Given the description of an element on the screen output the (x, y) to click on. 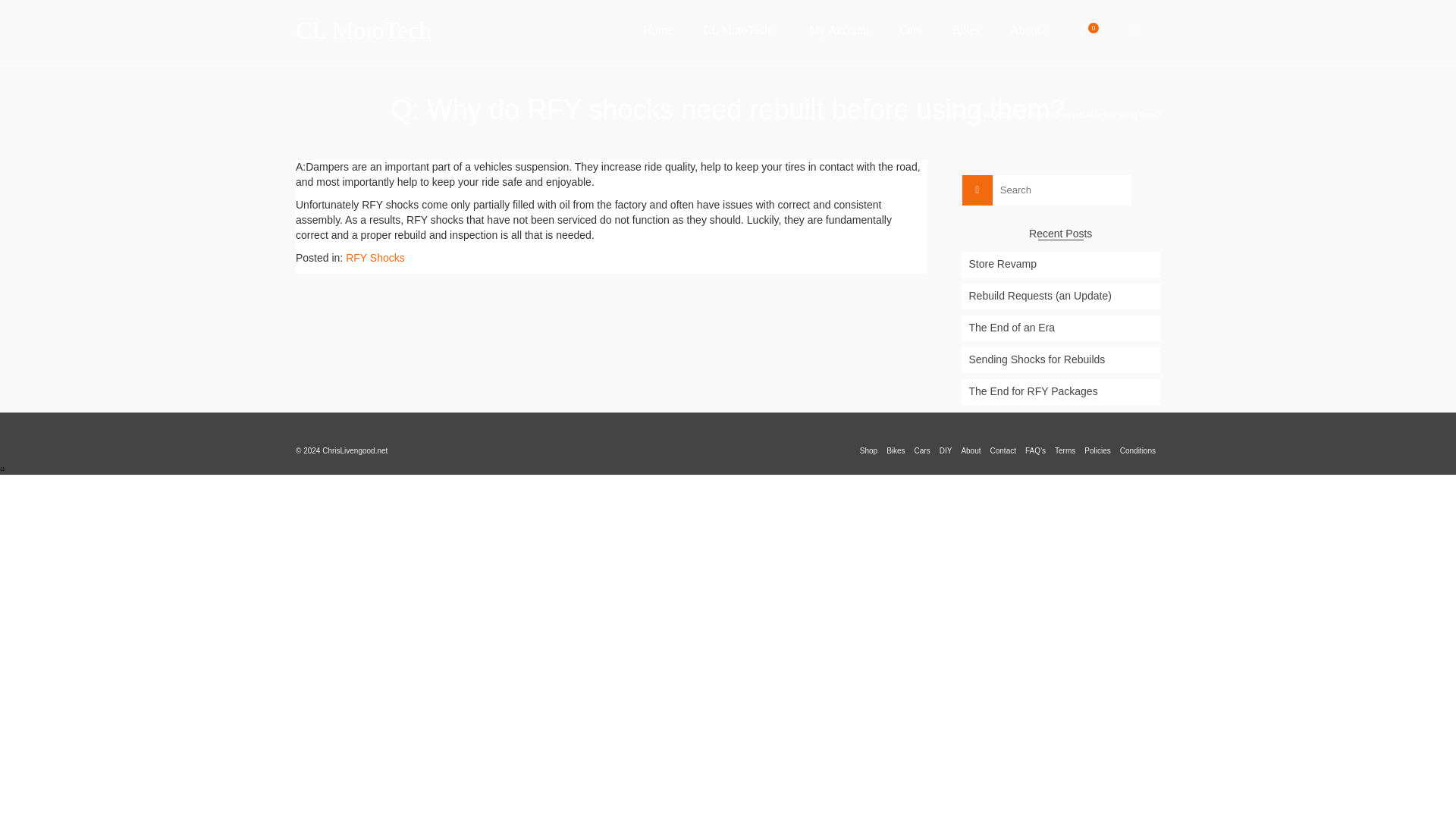
My Account (839, 30)
CL MotoTech (740, 30)
Home (657, 30)
CL MotoTech (432, 30)
About (1028, 30)
Bikes (965, 30)
